Given the description of an element on the screen output the (x, y) to click on. 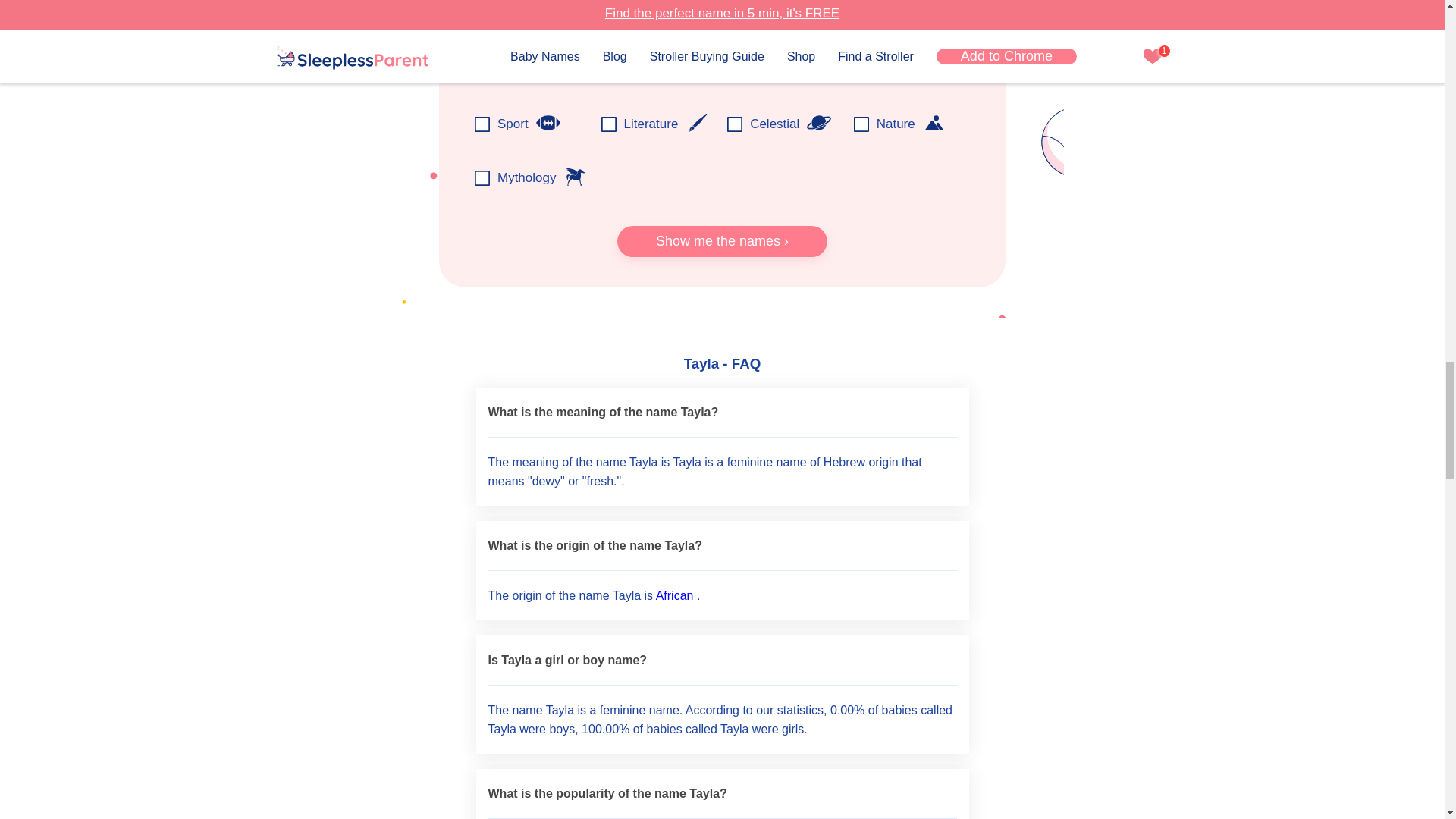
African (675, 594)
Celestial (818, 122)
Literature (696, 122)
Music (928, 68)
Movies (683, 68)
Biblical (557, 68)
Fashion (814, 68)
Sport (547, 122)
Nature (933, 122)
Mythology (575, 176)
